Given the description of an element on the screen output the (x, y) to click on. 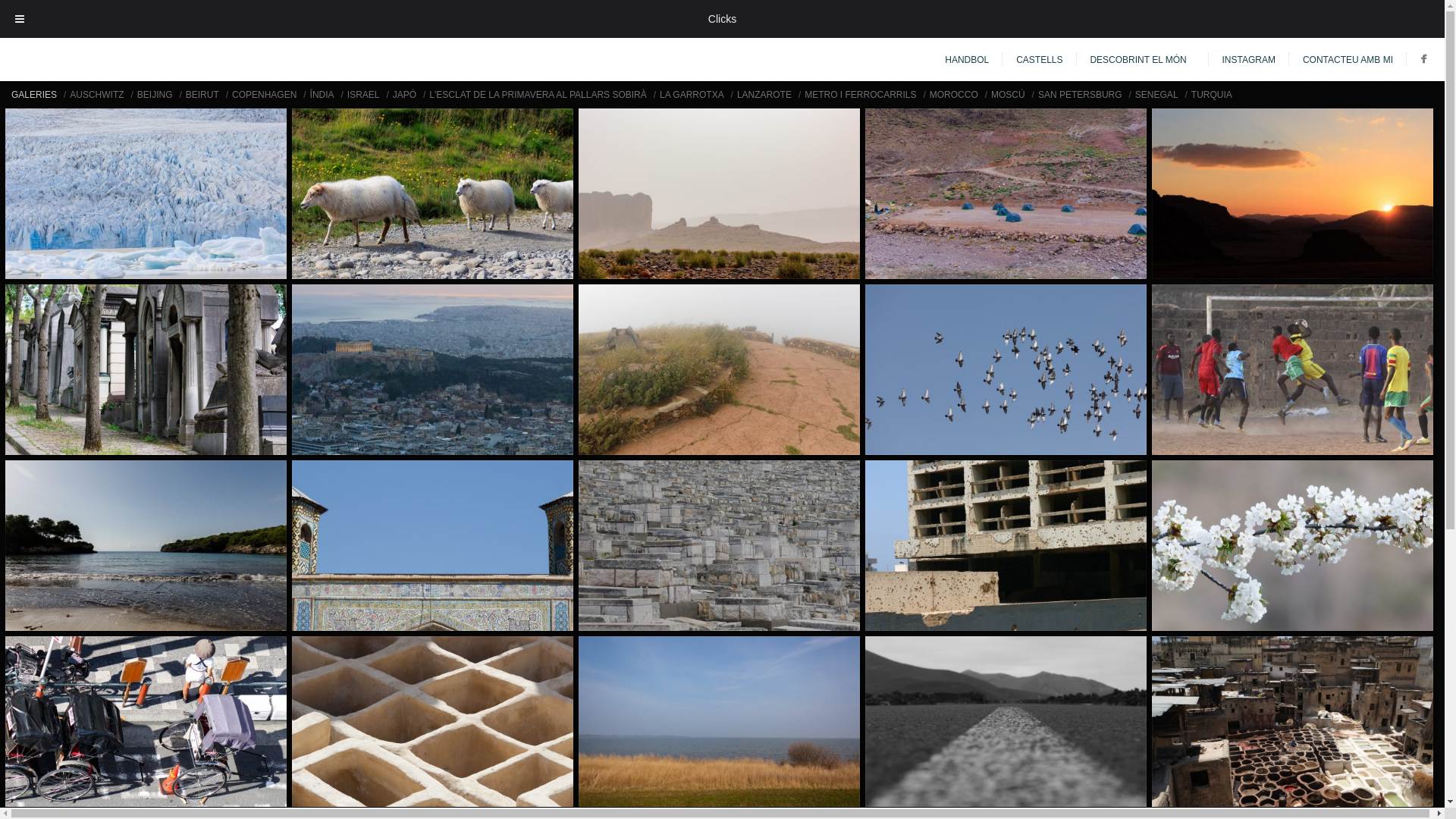
CONTACTEU AMB MI Element type: text (1347, 59)
CASTELLS Element type: text (1039, 59)
HANDBOL Element type: text (966, 59)
INSTAGRAM Element type: text (1248, 59)
Clicks Element type: text (722, 18)
